Given the description of an element on the screen output the (x, y) to click on. 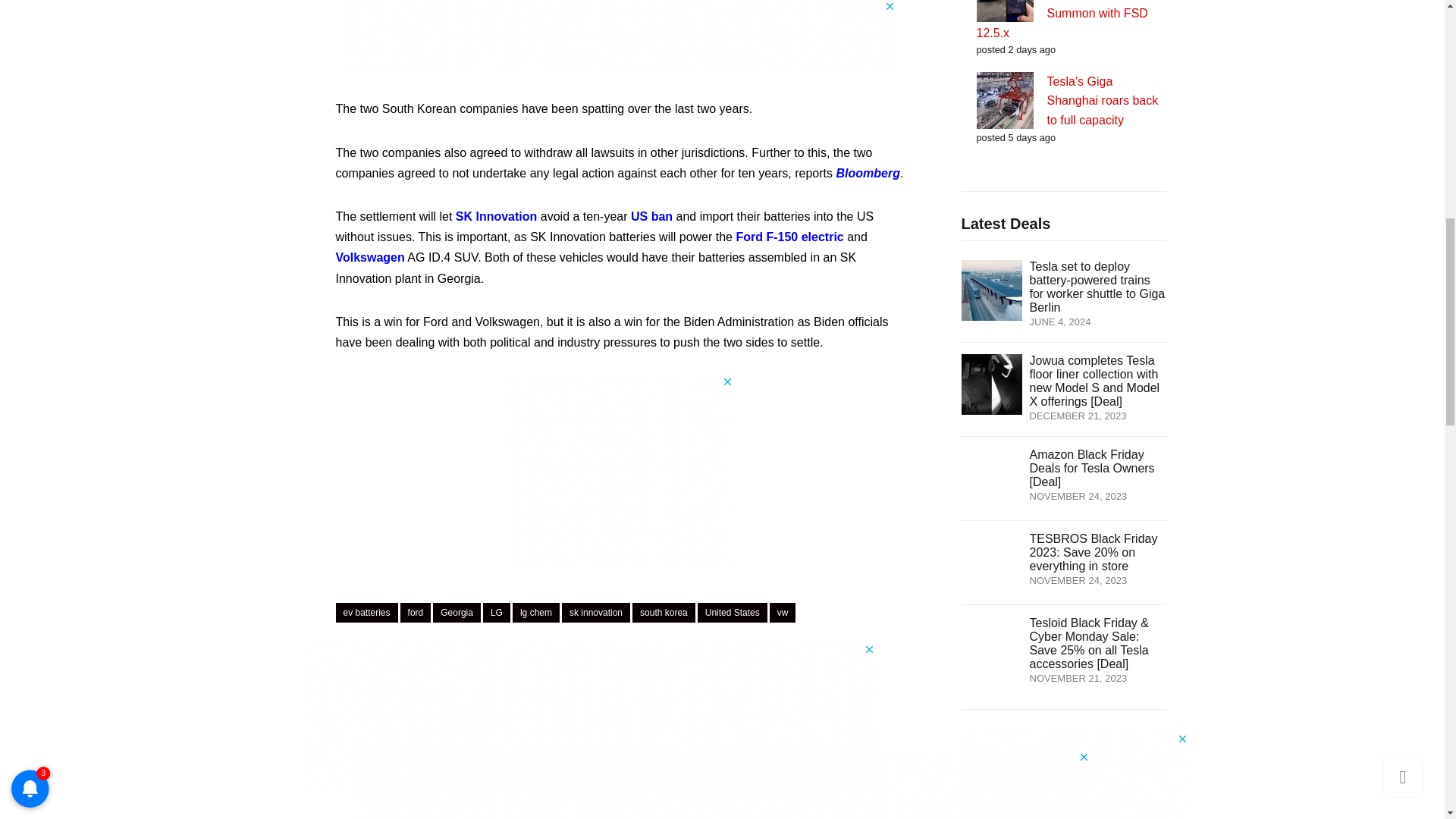
lg chem (535, 612)
SK Innovation (496, 215)
sk innovation (596, 612)
Volkswagen (369, 256)
3rd party ad content (1074, 775)
3rd party ad content (591, 718)
Ford F-150 electric (789, 236)
Georgia (456, 612)
ev batteries (365, 612)
US ban (651, 215)
3rd party ad content (619, 470)
ford (415, 612)
Bloomberg (867, 173)
LG (497, 612)
